Given the description of an element on the screen output the (x, y) to click on. 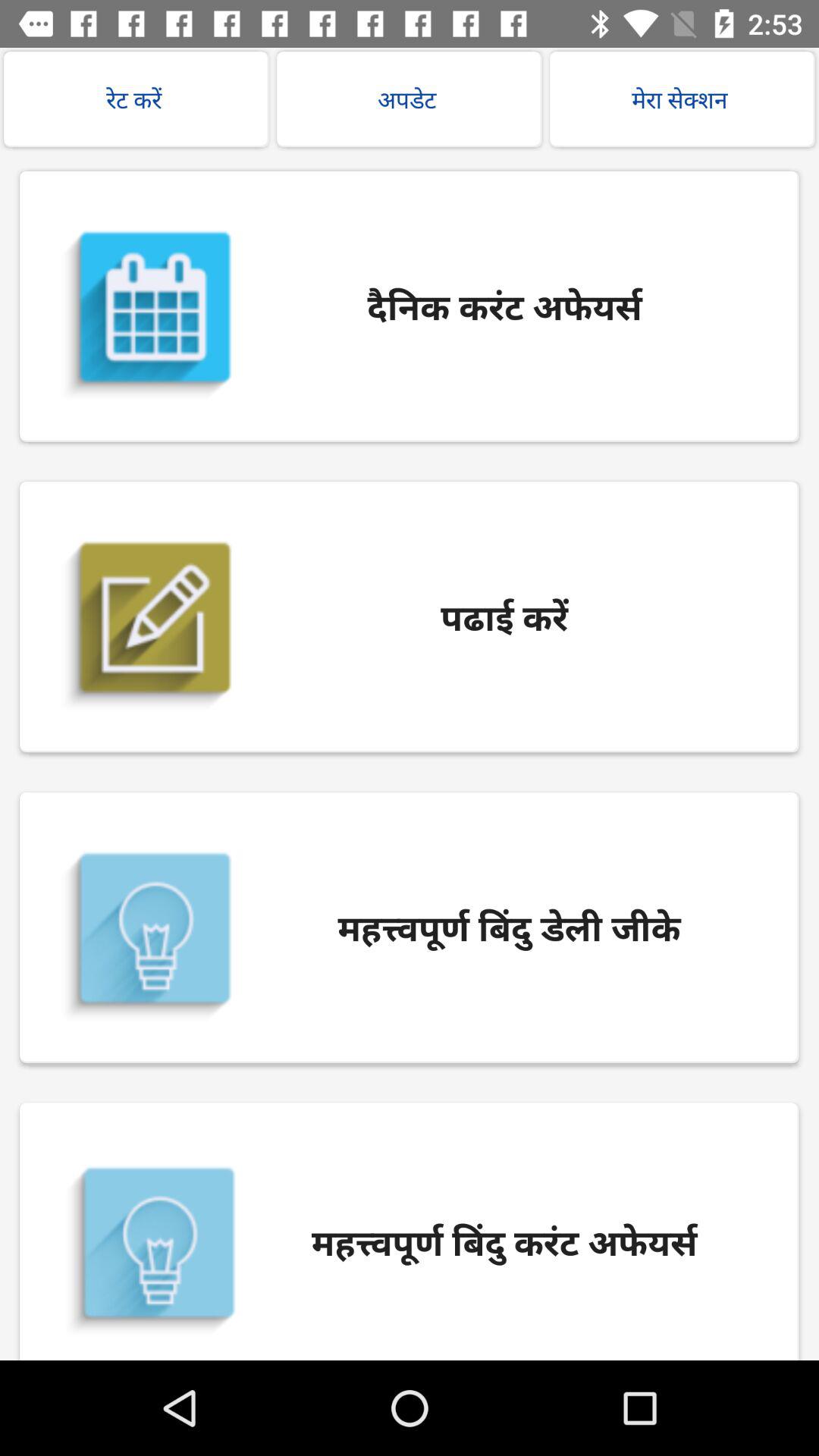
launch the item at the top right corner (682, 99)
